Given the description of an element on the screen output the (x, y) to click on. 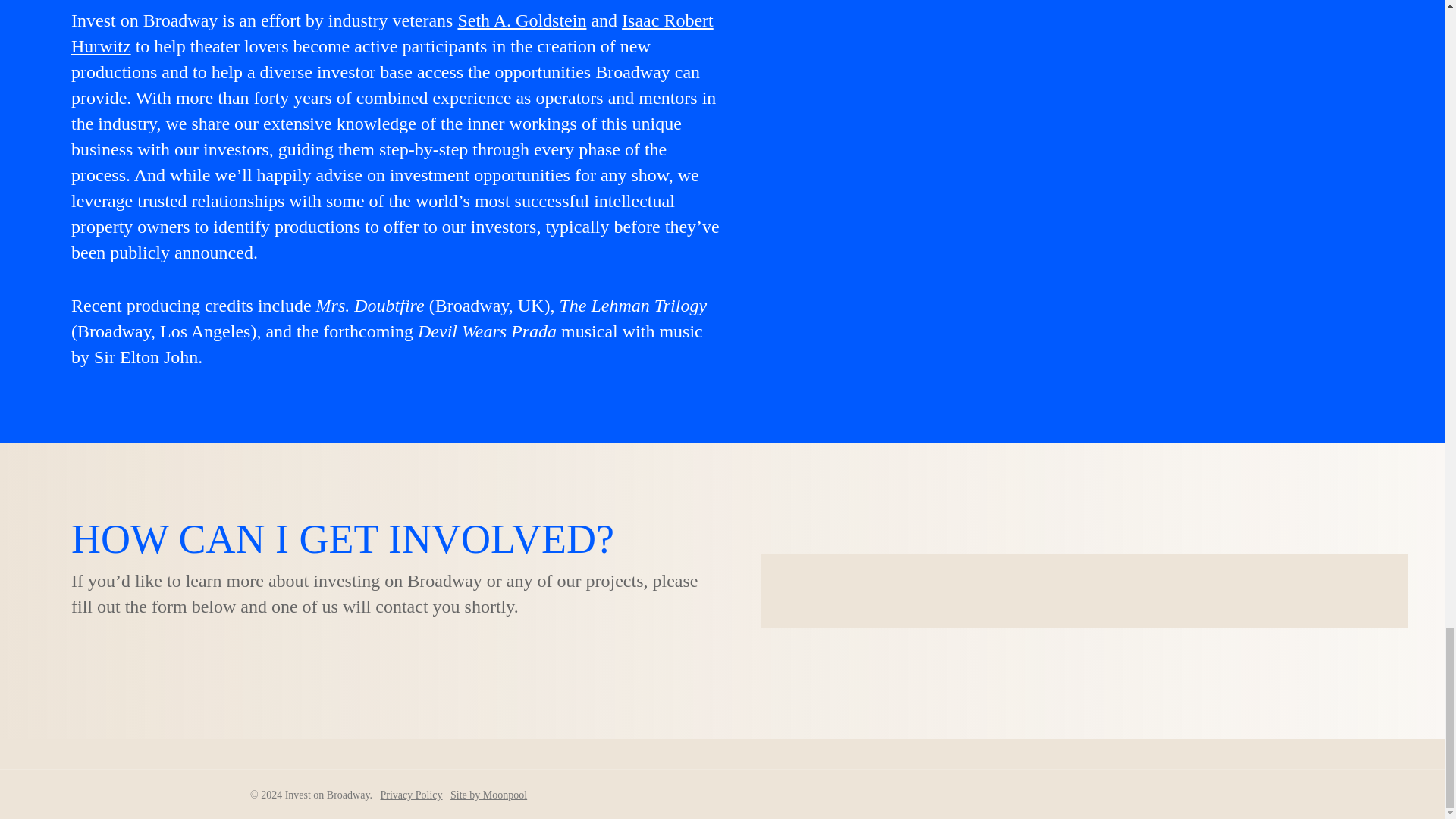
Site by Moonpool (488, 794)
Seth A. Goldstein (521, 20)
Privacy Policy (411, 794)
Isaac Robert Hurwitz (392, 33)
